Given the description of an element on the screen output the (x, y) to click on. 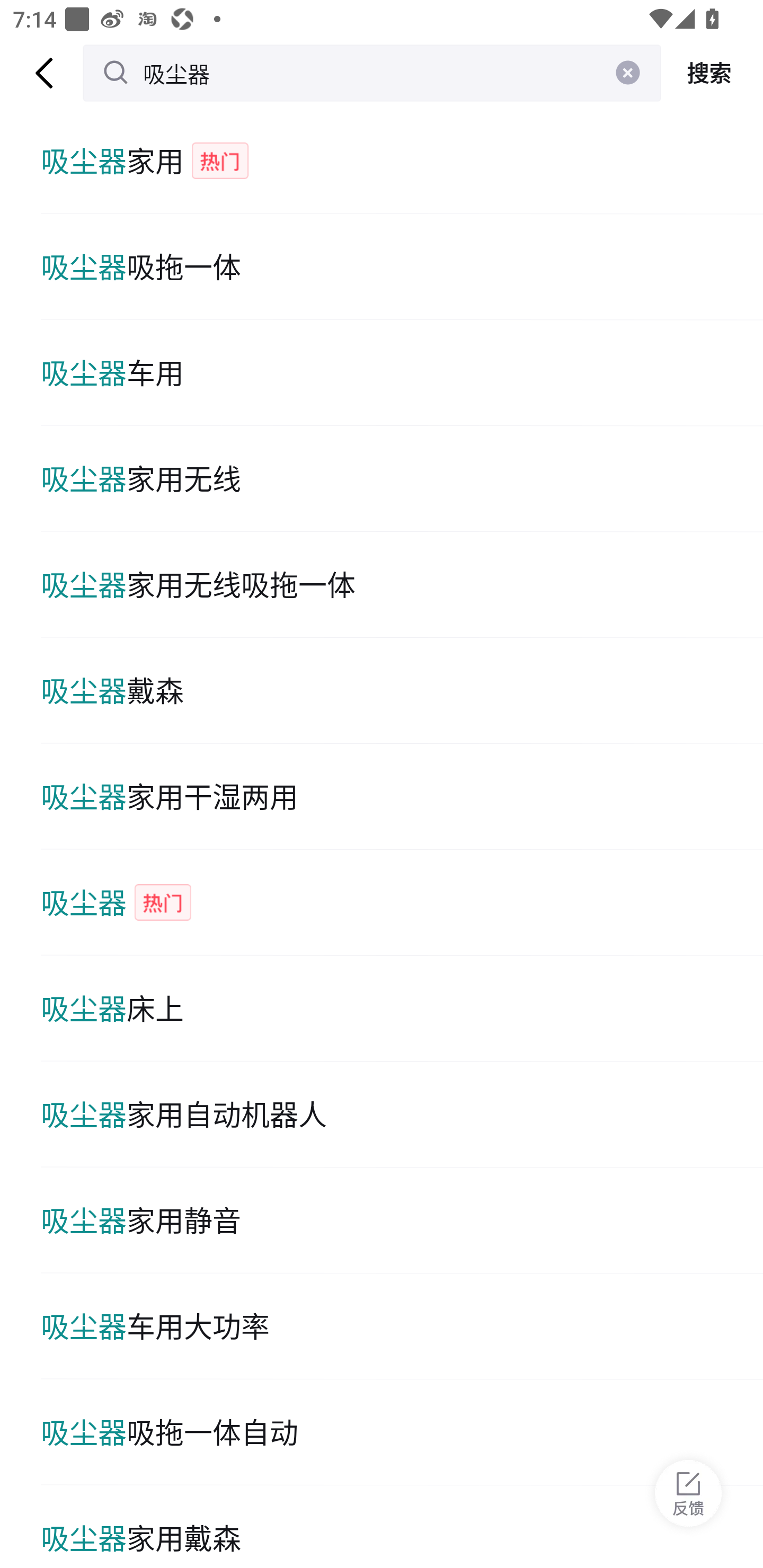
搜索 (712, 72)
吸尘器 (371, 72)
吸尘器家用 (401, 160)
吸尘器吸拖一体 (401, 266)
吸尘器车用 (401, 372)
吸尘器家用无线 (401, 478)
吸尘器家用无线吸拖一体 (401, 584)
吸尘器戴森 (401, 690)
吸尘器家用干湿两用 (401, 796)
吸尘器 (401, 901)
吸尘器床上 (401, 1007)
吸尘器家用自动机器人 (401, 1114)
吸尘器家用静音 (401, 1220)
吸尘器车用大功率 (401, 1326)
吸尘器吸拖一体自动 (401, 1431)
吸尘器家用戴森 (401, 1526)
